Given the description of an element on the screen output the (x, y) to click on. 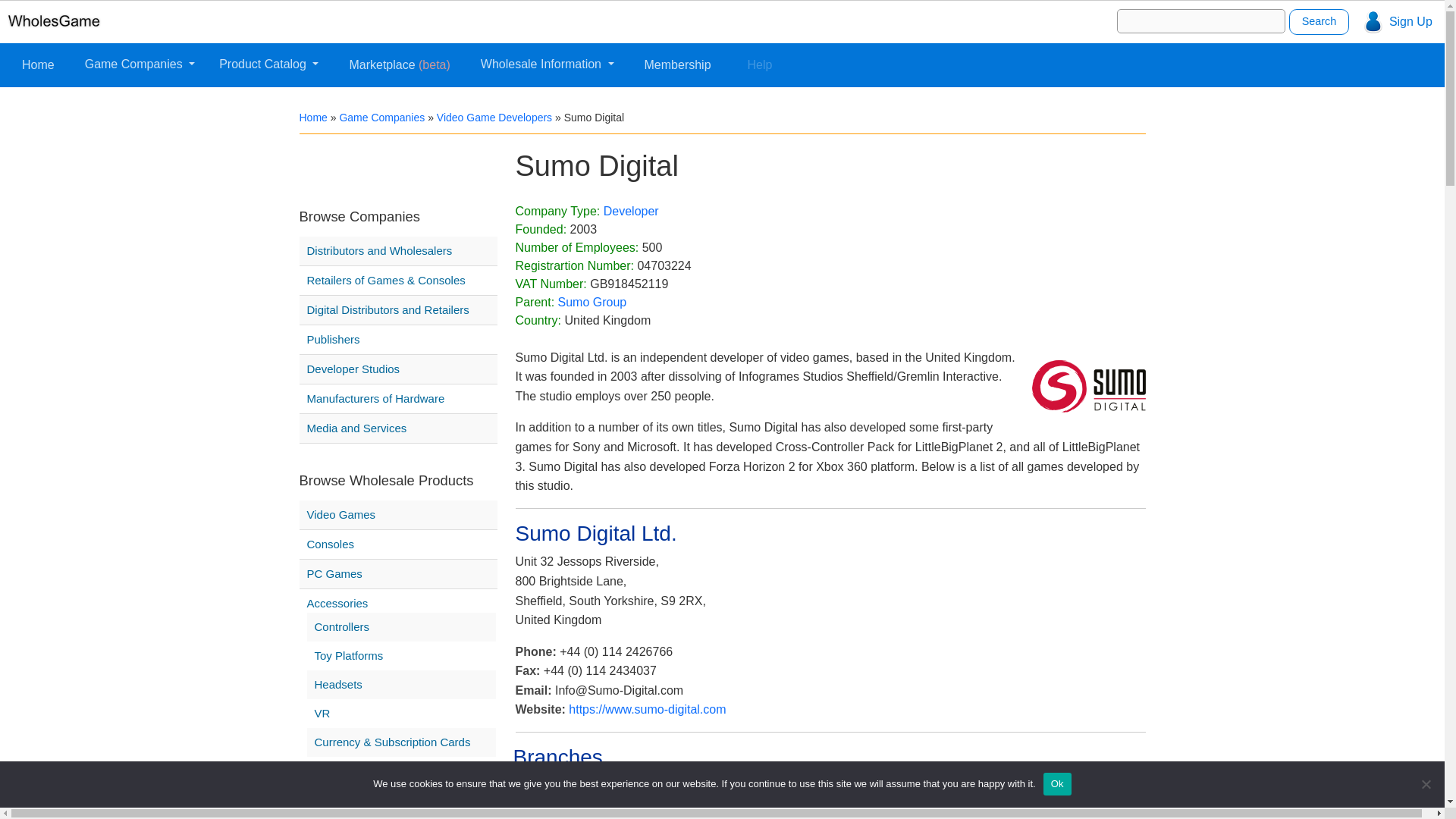
Video Game Developers (493, 117)
Help (759, 65)
Game Companies (139, 63)
Distributors and Wholesalers (378, 250)
Game Companies (382, 117)
Wholesale Information (547, 63)
Product Catalog (268, 63)
Home (38, 65)
Home (312, 117)
Membership (678, 65)
Search (1318, 22)
No (1425, 783)
Search (1318, 22)
